Given the description of an element on the screen output the (x, y) to click on. 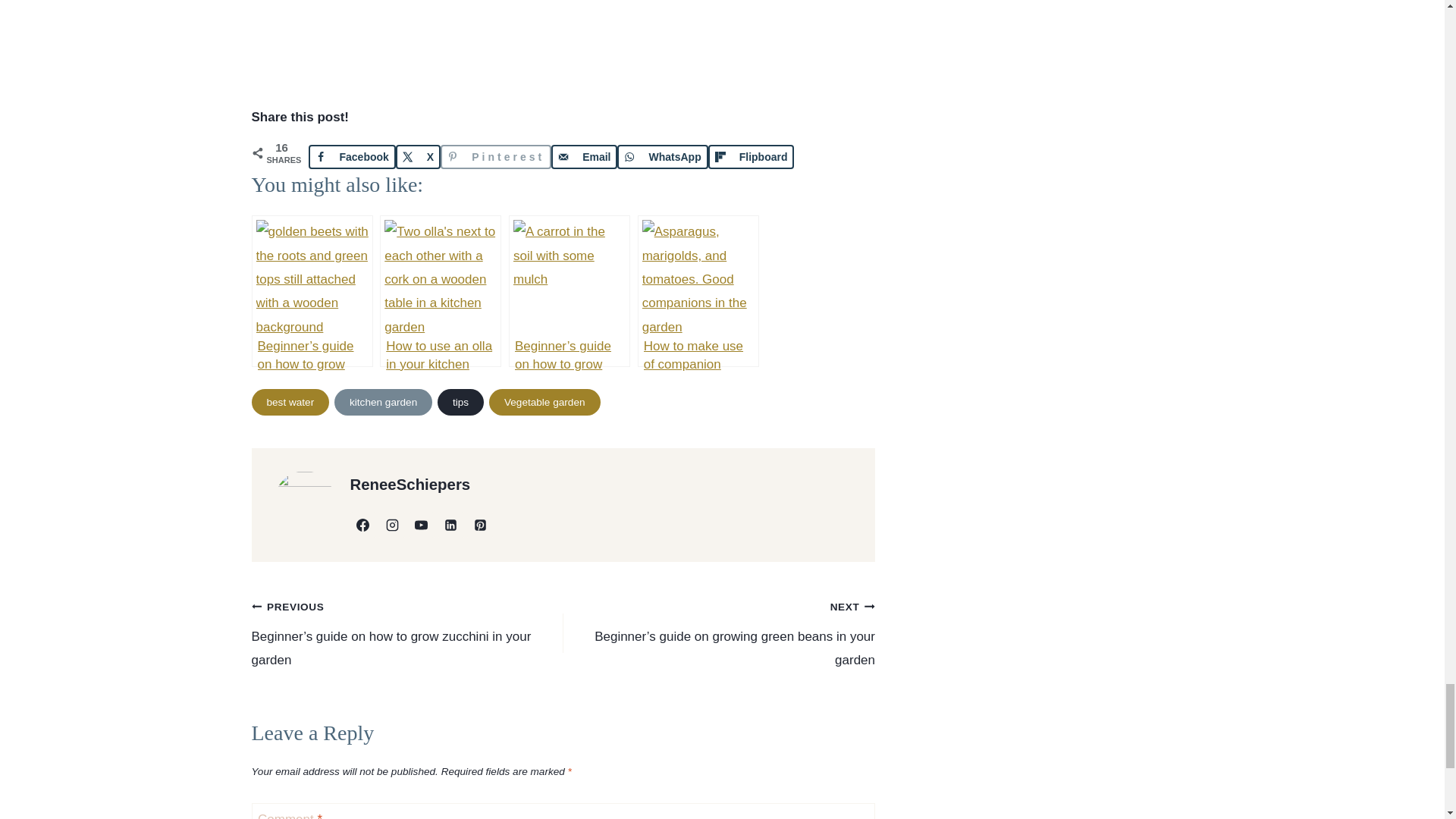
Email (584, 156)
Save to Pinterest (496, 156)
Share on Flipboard (750, 156)
Vegetable garden (544, 402)
X (418, 156)
Flipboard (750, 156)
Share on WhatsApp (662, 156)
Share on Facebook (350, 156)
Pinterest (496, 156)
Facebook (350, 156)
kitchen garden (383, 402)
tips (460, 402)
WhatsApp (662, 156)
Send over email (584, 156)
best water (290, 402)
